Given the description of an element on the screen output the (x, y) to click on. 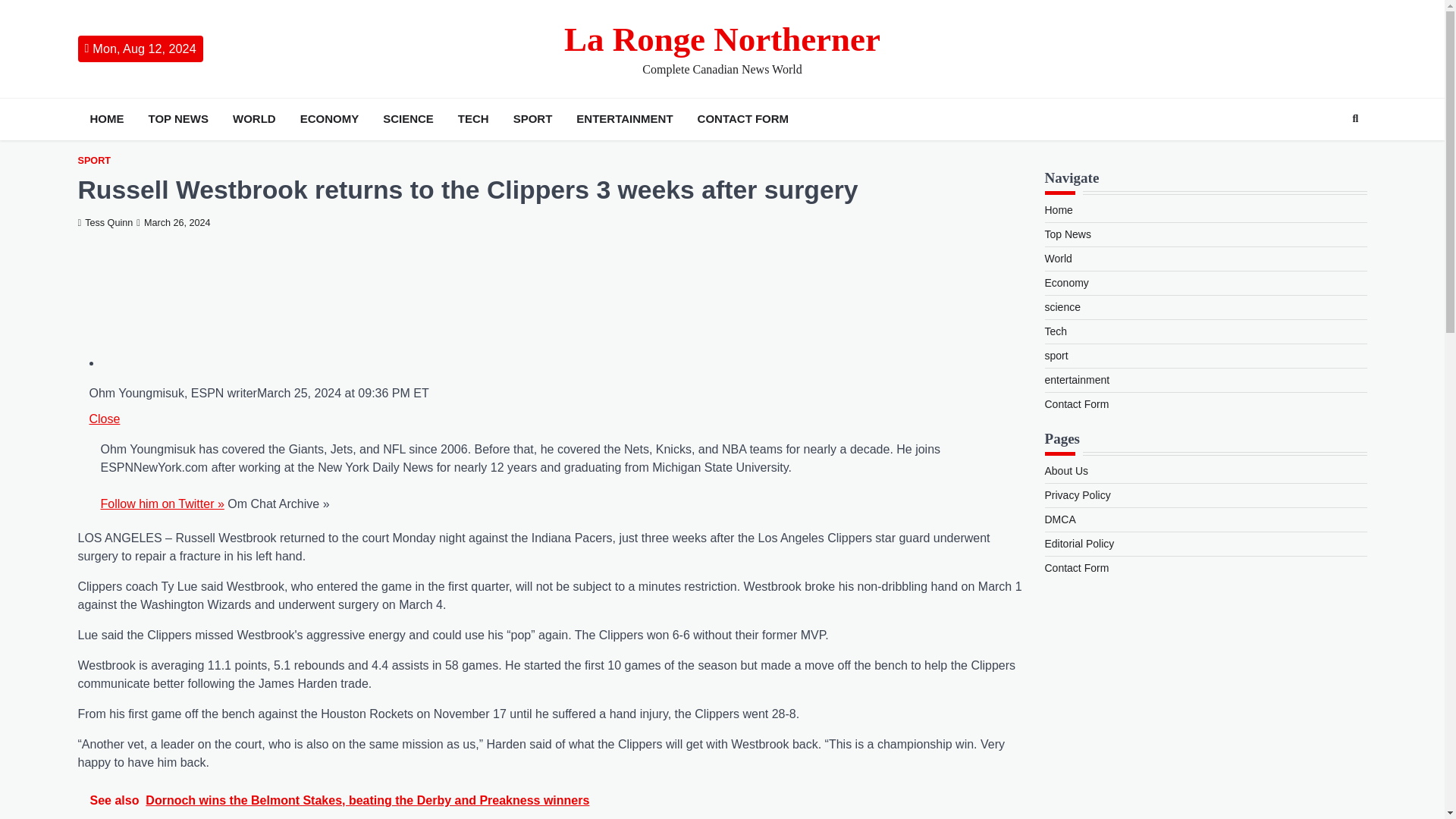
ENTERTAINMENT (624, 118)
CONTACT FORM (742, 118)
TECH (473, 118)
HOME (105, 118)
Contact Form (1077, 404)
Search (1355, 118)
World (1058, 258)
DMCA (1060, 519)
La Ronge Northerner (722, 39)
